Given the description of an element on the screen output the (x, y) to click on. 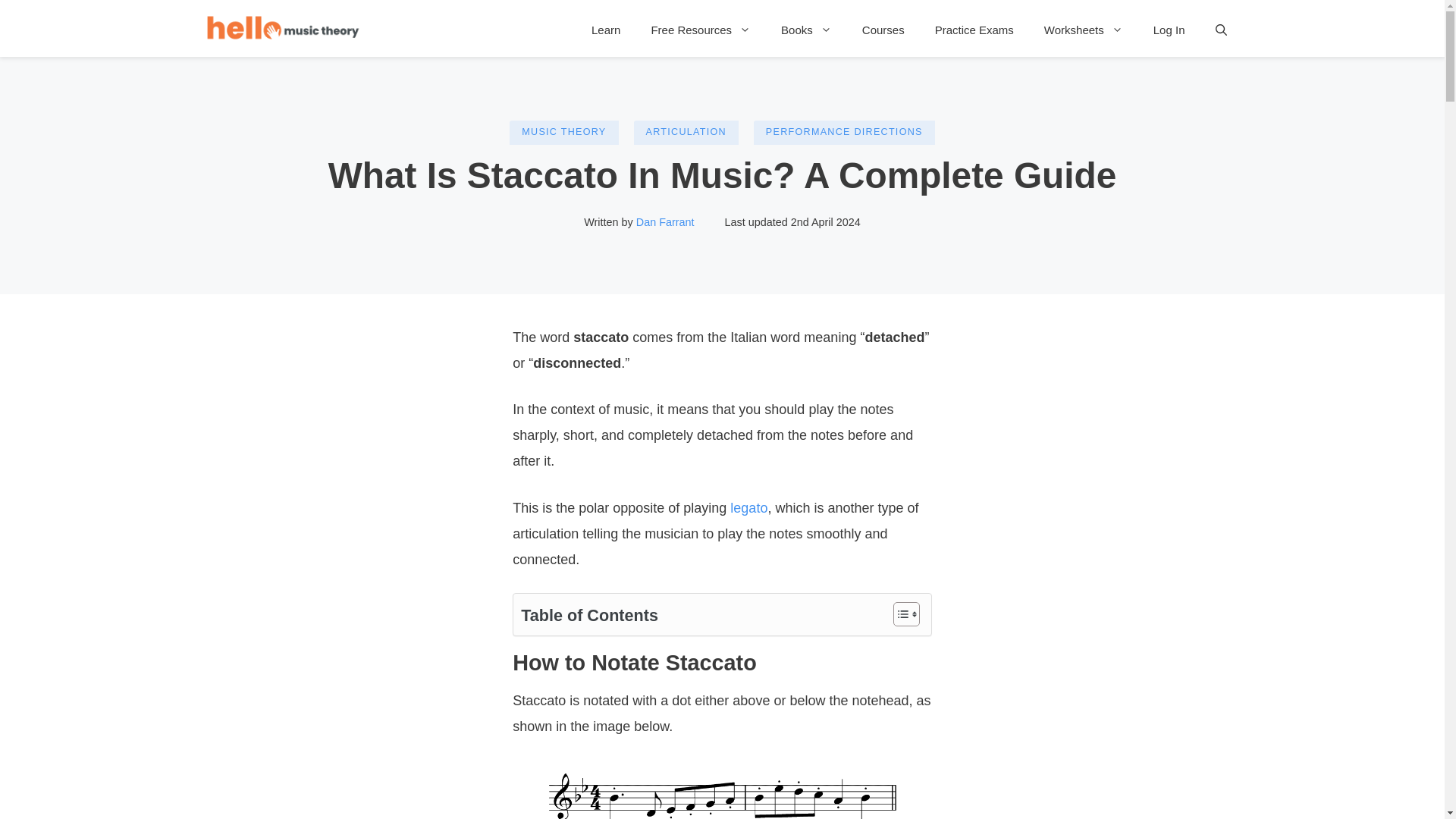
Books (806, 30)
Practice Exams (974, 30)
Courses (883, 30)
Dan Farrant (665, 222)
Worksheets (1083, 30)
Log In (1168, 30)
legato (748, 507)
PERFORMANCE DIRECTIONS (844, 132)
Learn (605, 30)
ARTICULATION (685, 132)
